Given the description of an element on the screen output the (x, y) to click on. 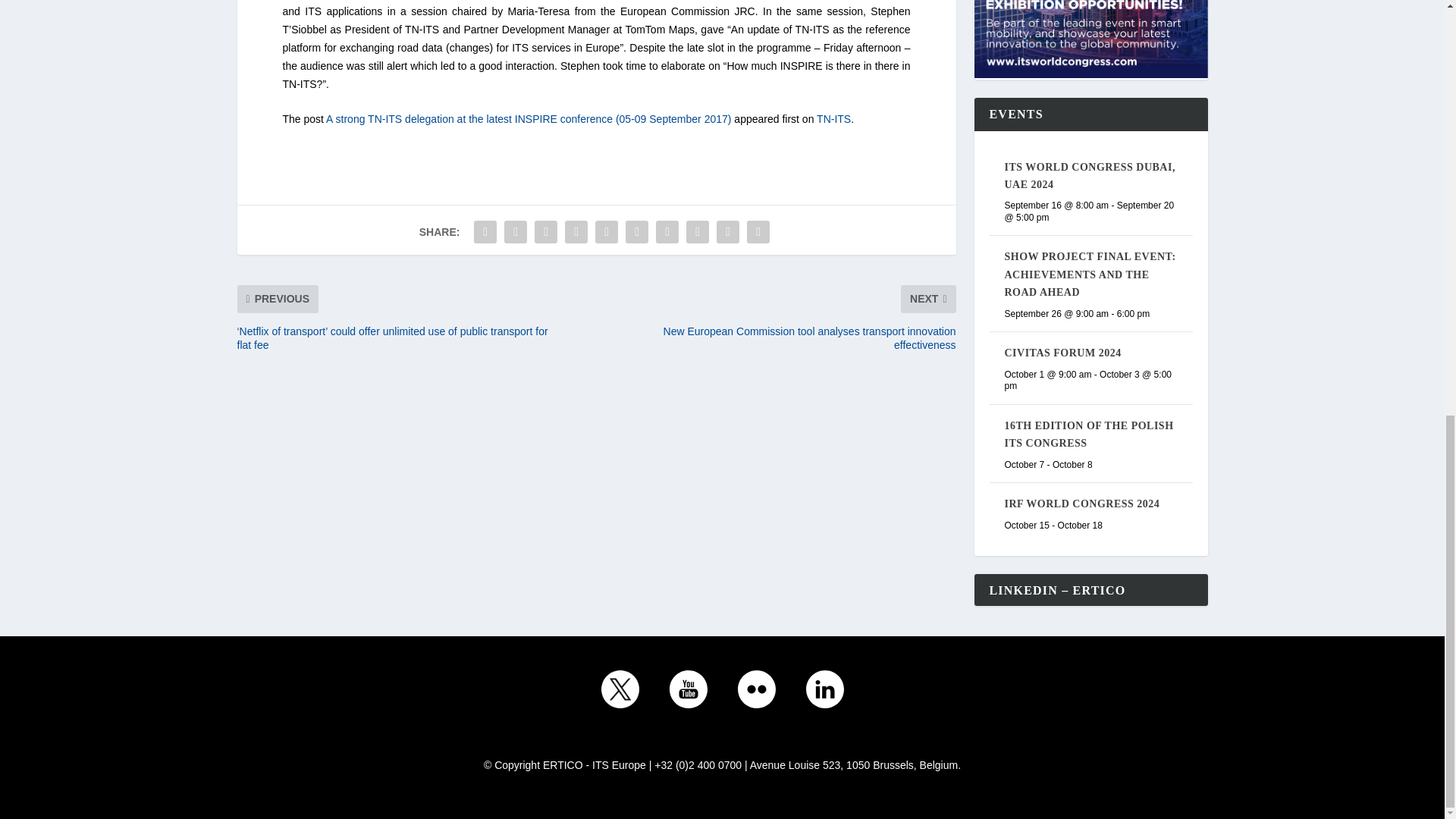
CIVITAS FORUM 2024 (1062, 352)
TN-ITS (833, 119)
SHOW PROJECT FINAL EVENT: ACHIEVEMENTS AND THE ROAD AHEAD (1089, 274)
ITS WORLD CONGRESS DUBAI, UAE 2024 (1089, 175)
